Given the description of an element on the screen output the (x, y) to click on. 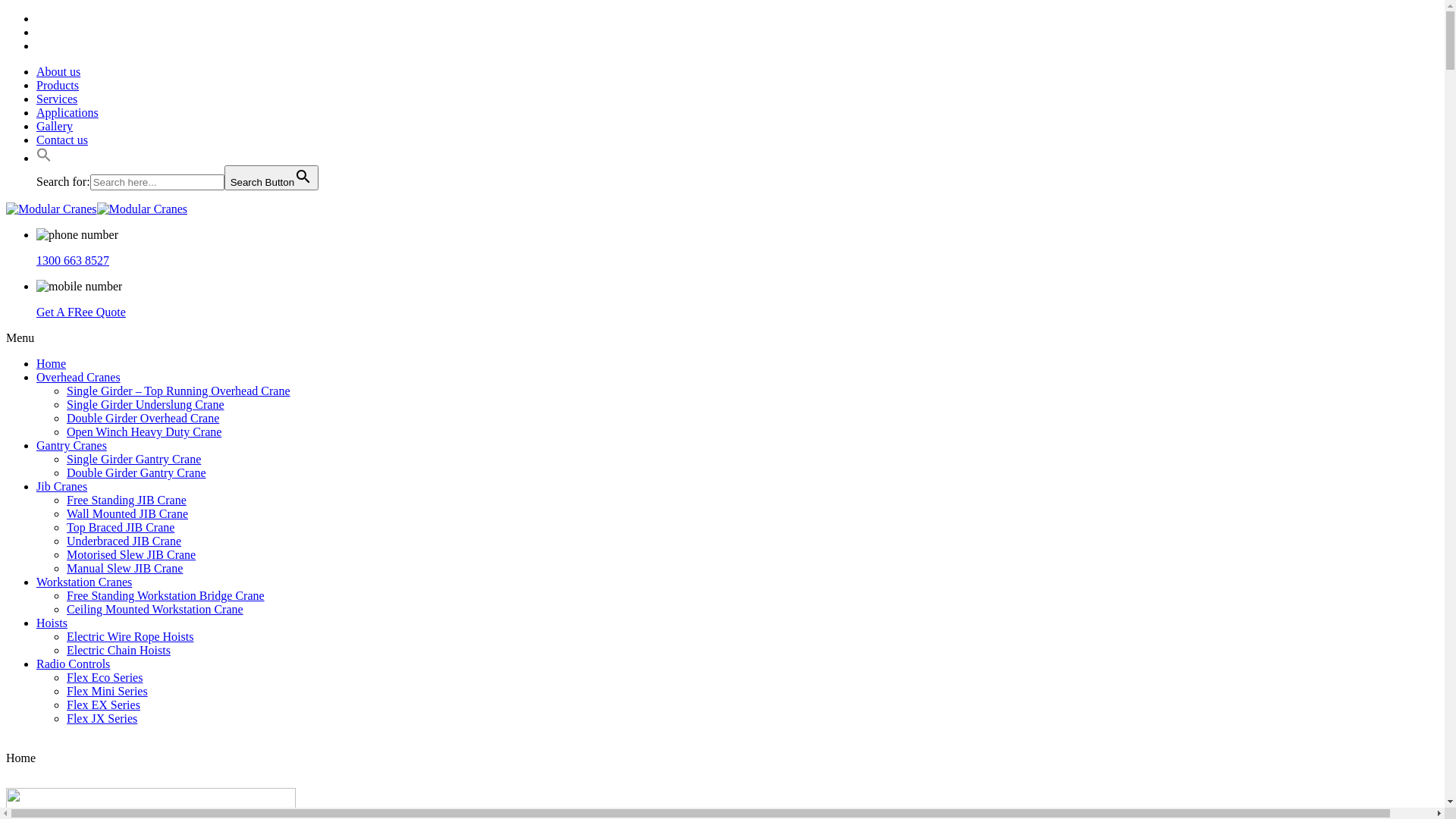
Electric Wire Rope Hoists Element type: text (129, 636)
Search Button Element type: text (271, 177)
Gallery Element type: text (54, 125)
Single Girder Gantry Crane Element type: text (133, 458)
1300 663 8527 Element type: text (72, 260)
Manual Slew JIB Crane Element type: text (124, 567)
Top Braced JIB Crane Element type: text (120, 526)
Motorised Slew JIB Crane Element type: text (130, 554)
Applications Element type: text (67, 112)
Wall Mounted JIB Crane Element type: text (127, 513)
Overhead Cranes Element type: text (78, 376)
Double Girder Overhead Crane Element type: text (142, 417)
Jib Cranes Element type: text (61, 486)
Get A FRee Quote Element type: text (80, 311)
About us Element type: text (58, 71)
Contact us Element type: text (61, 139)
Open Winch Heavy Duty Crane Element type: text (143, 431)
Free Standing Workstation Bridge Crane Element type: text (165, 595)
Products Element type: text (57, 84)
Flex Eco Series Element type: text (104, 677)
Double Girder Gantry Crane Element type: text (136, 472)
Workstation Cranes Element type: text (83, 581)
Single Girder Underslung Crane Element type: text (145, 404)
Flex EX Series Element type: text (103, 704)
Underbraced JIB Crane Element type: text (123, 540)
Free Standing JIB Crane Element type: text (126, 499)
Electric Chain Hoists Element type: text (118, 649)
Flex JX Series Element type: text (101, 718)
Ceiling Mounted Workstation Crane Element type: text (154, 608)
Services Element type: text (56, 98)
Gantry Cranes Element type: text (71, 445)
Flex Mini Series Element type: text (106, 690)
Home Element type: text (50, 363)
Radio Controls Element type: text (72, 663)
Hoists Element type: text (51, 622)
